Given the description of an element on the screen output the (x, y) to click on. 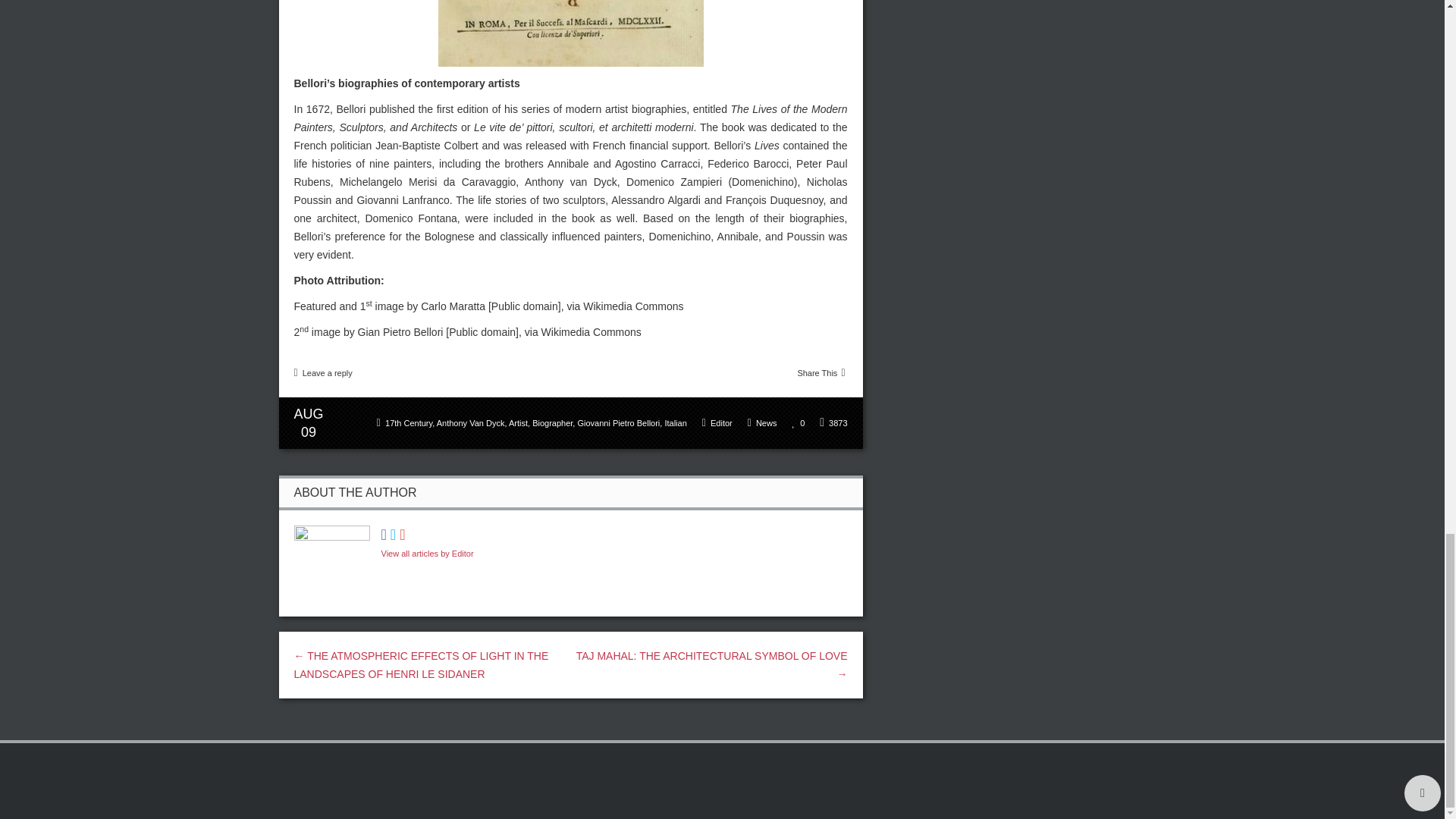
Anthony Van Dyck (470, 422)
View all articles by Editor (426, 552)
I like this article (794, 422)
Italian (674, 422)
News (766, 422)
Giovanni Pietro Bellori (617, 422)
Leave a reply (327, 372)
Tags (532, 422)
Biographer (552, 422)
Author (716, 422)
View all posts by Editor (721, 422)
17th Century (408, 422)
Category (762, 422)
Editor (721, 422)
Likes (798, 422)
